Given the description of an element on the screen output the (x, y) to click on. 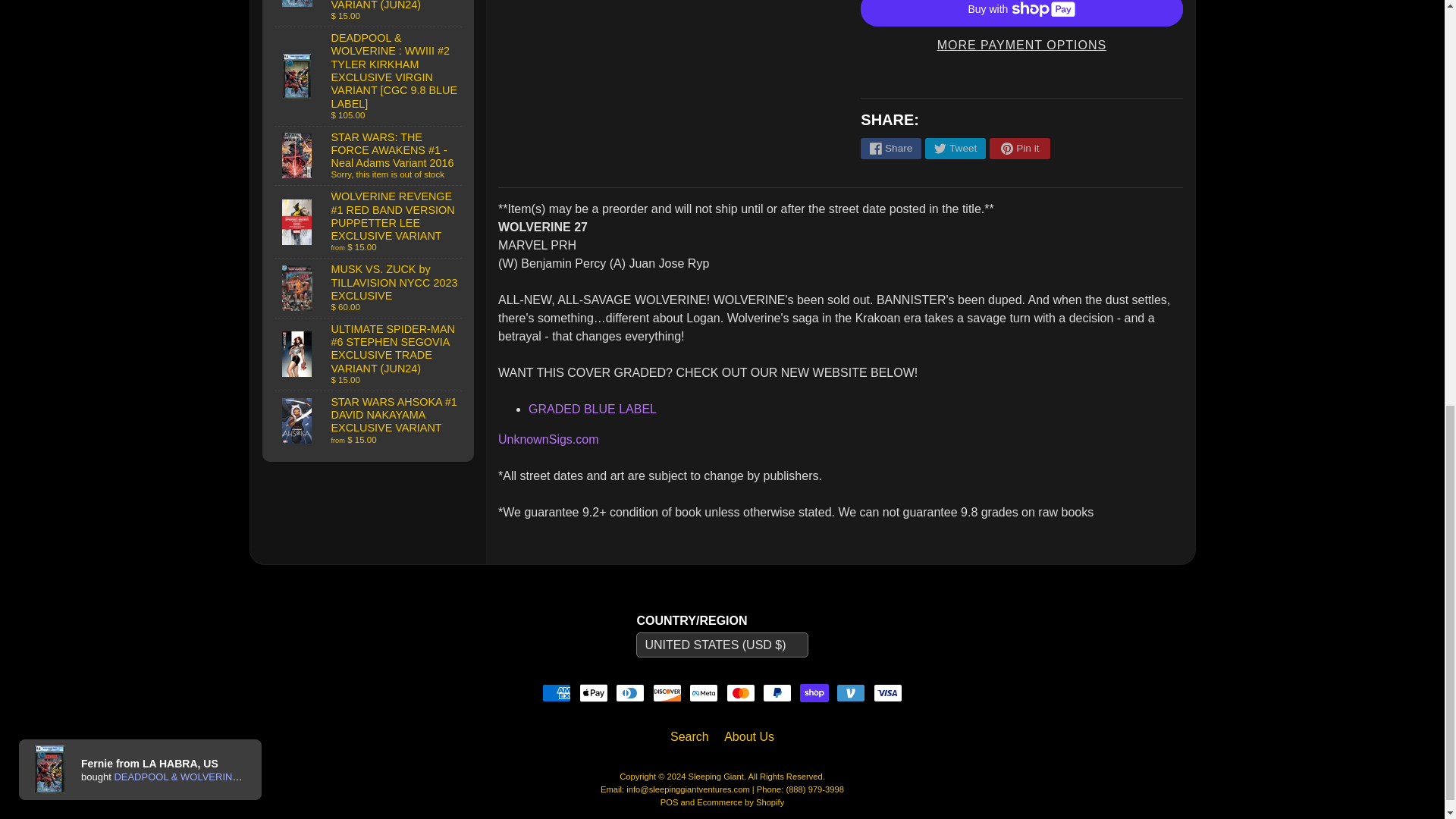
Shop Pay (813, 692)
PayPal (777, 692)
Venmo (849, 692)
Mastercard (740, 692)
Meta Pay (702, 692)
American Express (555, 692)
Apple Pay (593, 692)
MUSK VS. ZUCK by TILLAVISION NYCC 2023 EXCLUSIVE (369, 287)
Discover (666, 692)
Diners Club (630, 692)
